Given the description of an element on the screen output the (x, y) to click on. 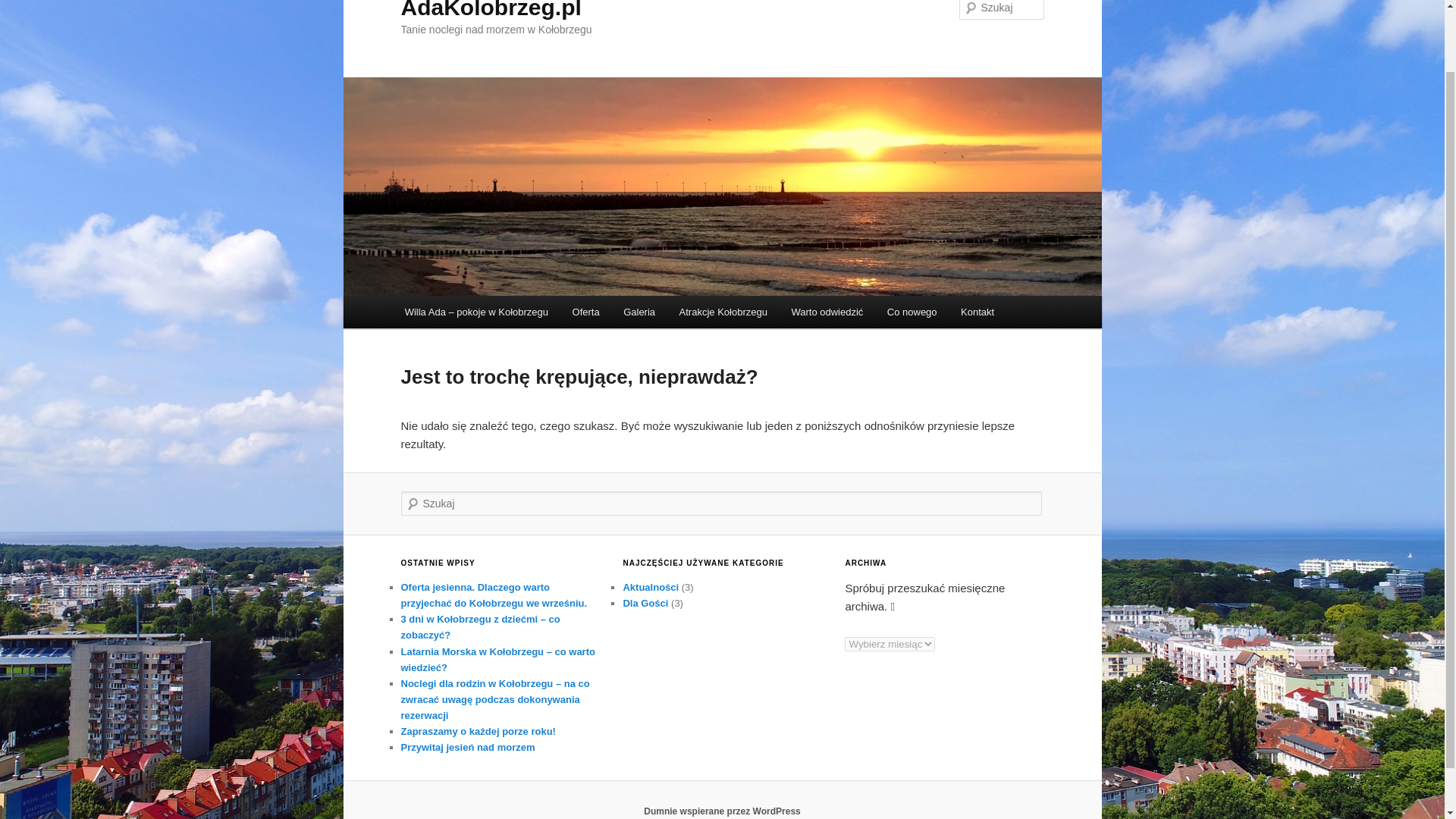
Kontakt (977, 311)
Oferta (585, 311)
Galeria (638, 311)
AdaKolobrzeg.pl (490, 9)
Co nowego (912, 311)
Semantyczna platforma publikowania osobistego (721, 810)
Dumnie wspierane przez WordPress (721, 810)
